Given the description of an element on the screen output the (x, y) to click on. 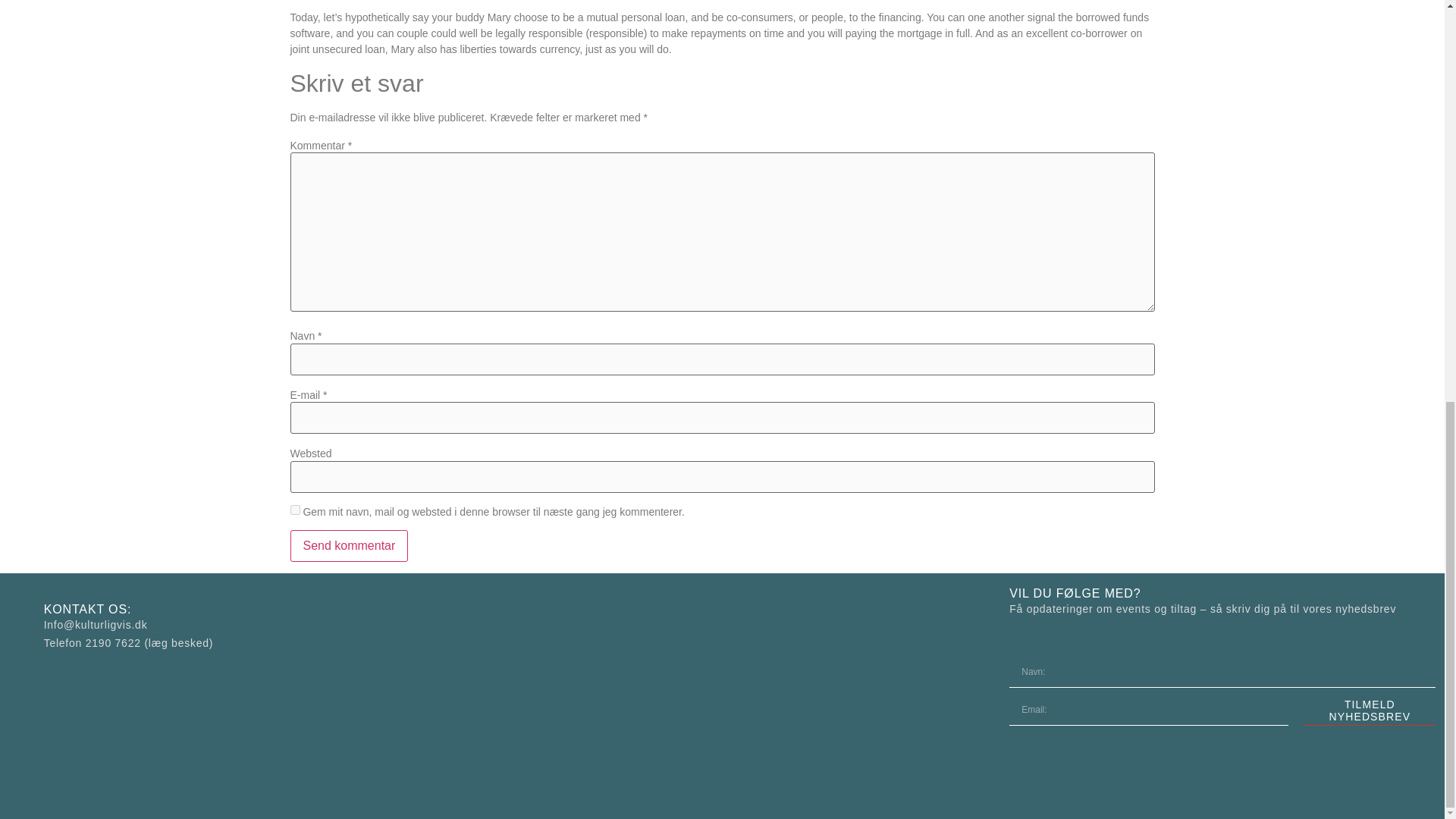
yes (294, 510)
Send kommentar (348, 545)
TILMELD NYHEDSBREV (1369, 710)
Send kommentar (348, 545)
